Given the description of an element on the screen output the (x, y) to click on. 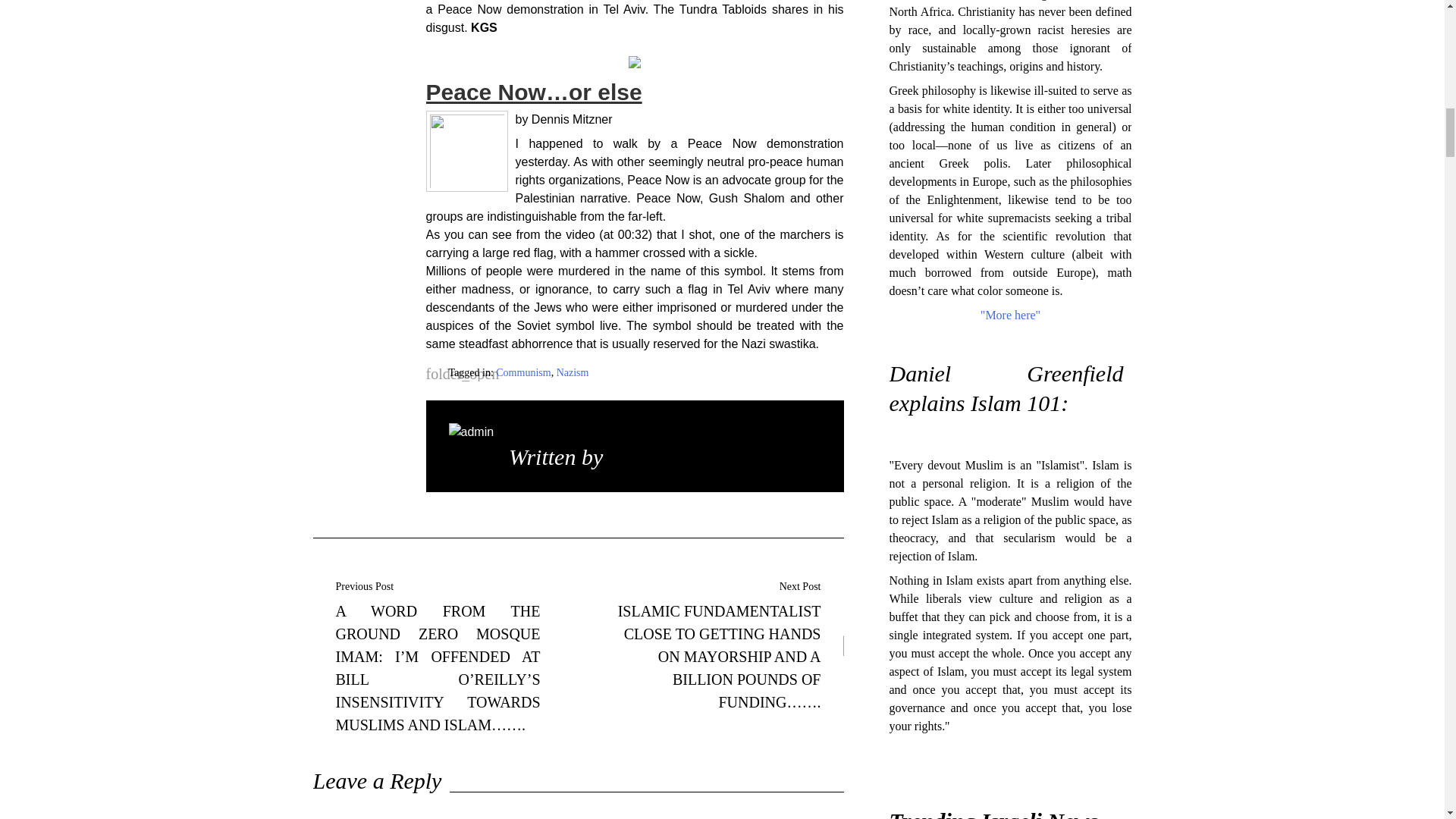
Communism (523, 372)
Posts by KGS (630, 456)
Nazism (572, 372)
KGS (630, 456)
"More here" (1010, 314)
